Given the description of an element on the screen output the (x, y) to click on. 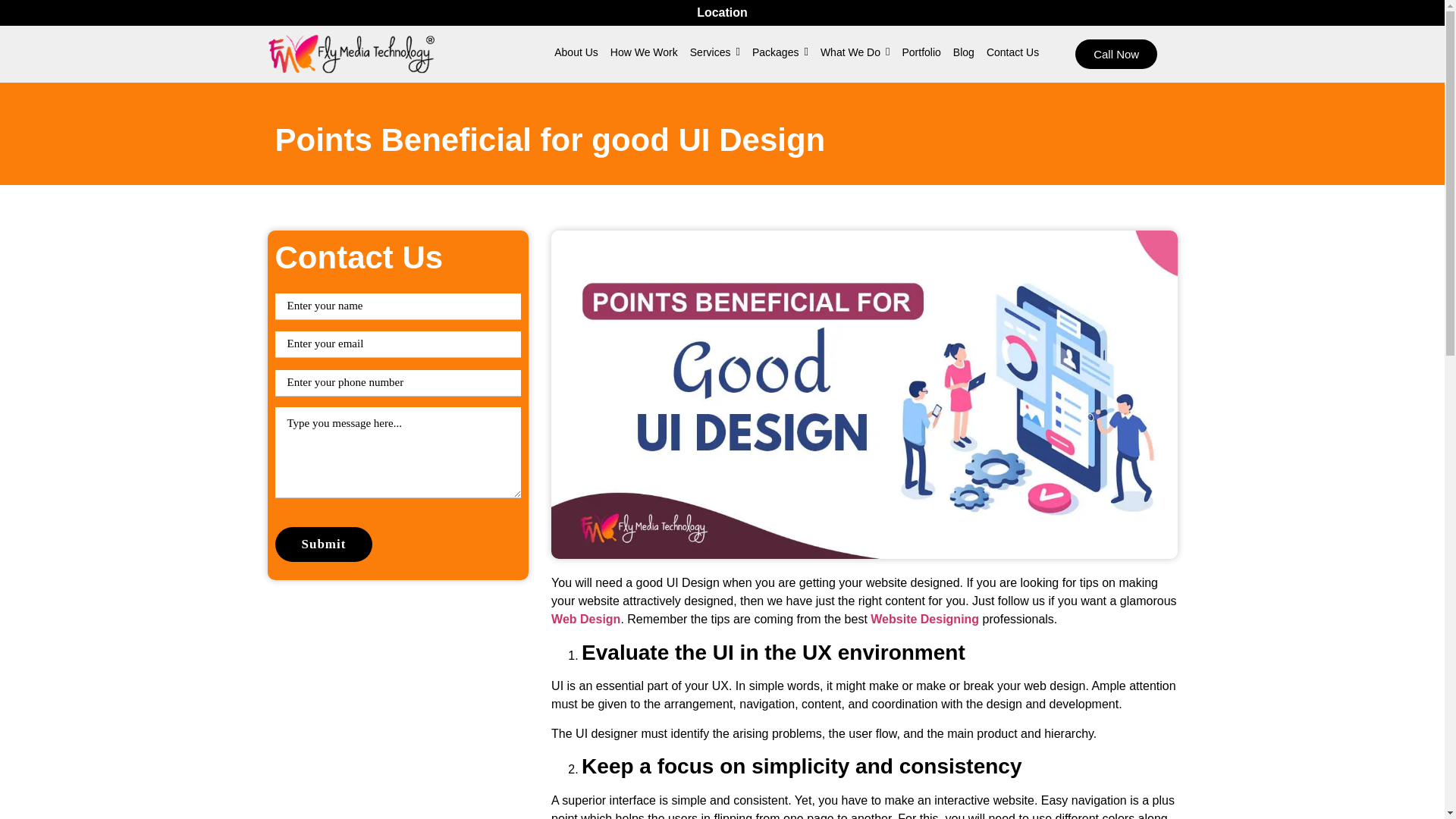
Services (714, 52)
Submit (323, 544)
About Us (576, 52)
Packages (780, 52)
Location (721, 12)
How We Work (644, 52)
